Given the description of an element on the screen output the (x, y) to click on. 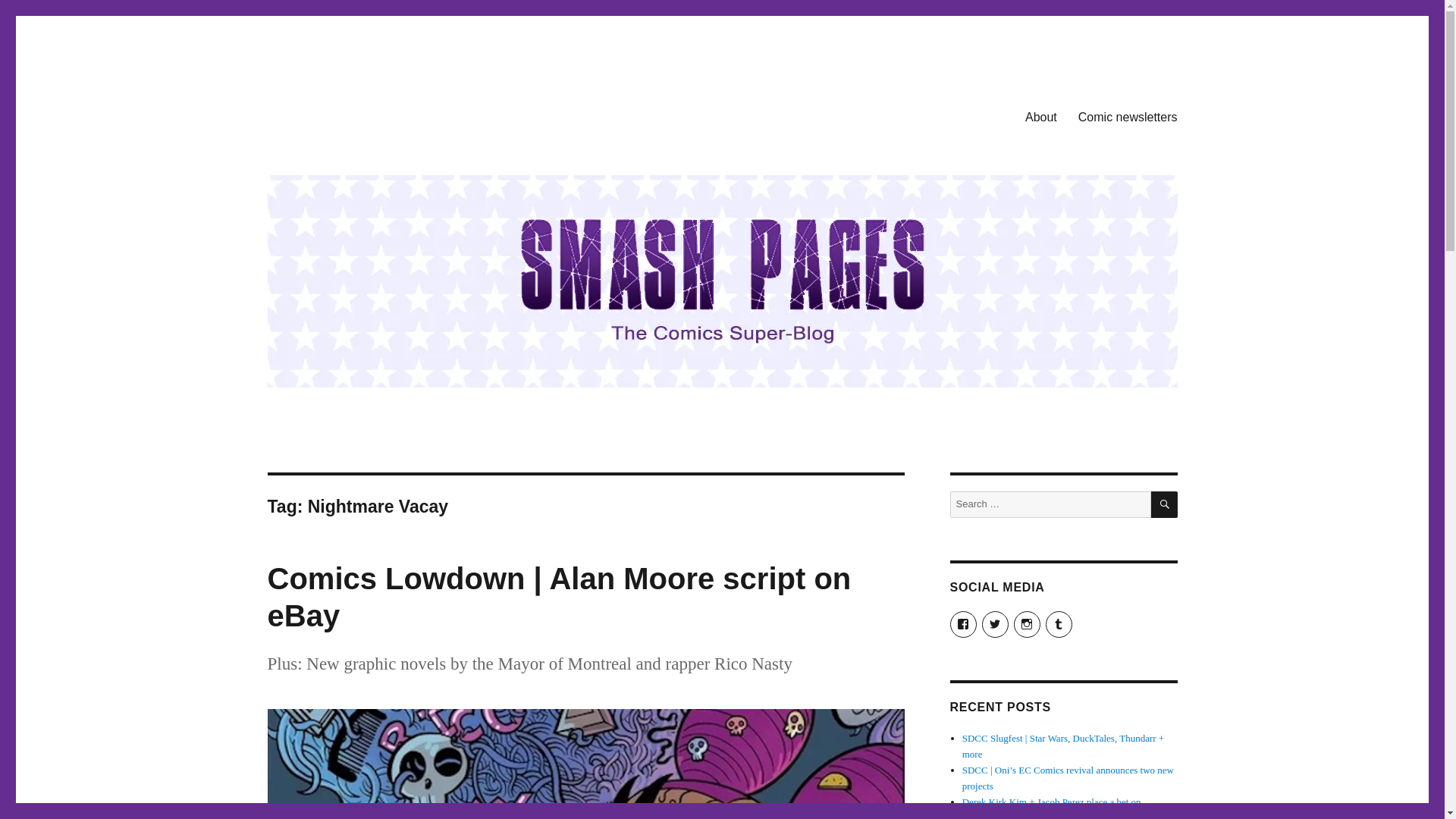
Comic newsletters (1127, 116)
About (1040, 116)
SMASH PAGES (344, 114)
